Given the description of an element on the screen output the (x, y) to click on. 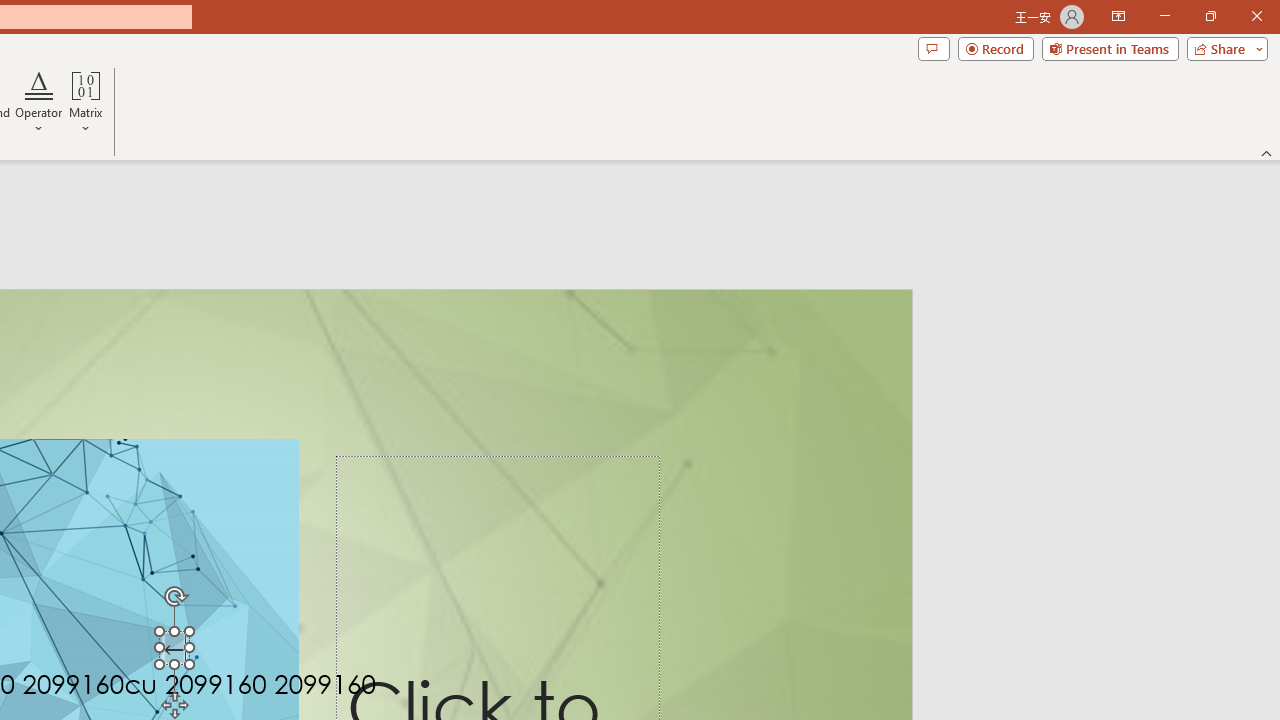
Operator (38, 102)
Matrix (86, 102)
